Given the description of an element on the screen output the (x, y) to click on. 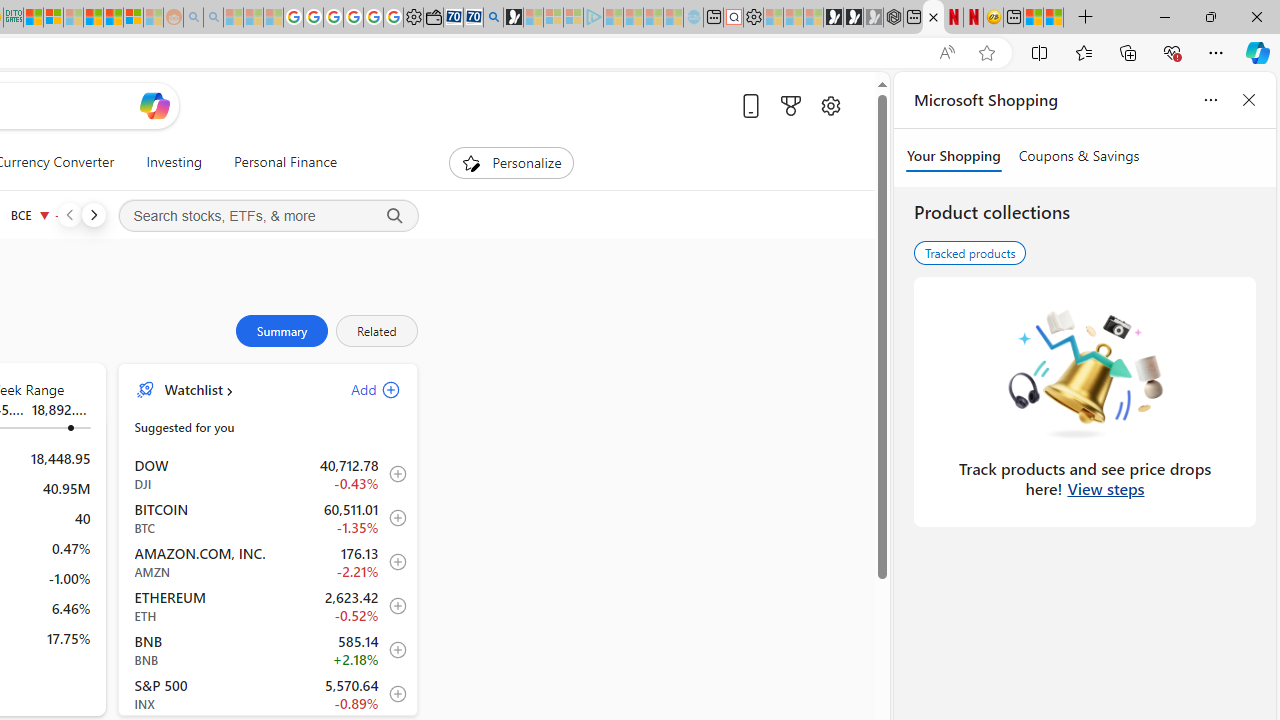
Personal Finance (276, 162)
Summary (281, 331)
BNB BNB increase 585.14 +12.76 +2.18% item4 (267, 649)
ETH Ethereum decrease 2,623.42 -13.69 -0.52% item3 (267, 605)
